Given the description of an element on the screen output the (x, y) to click on. 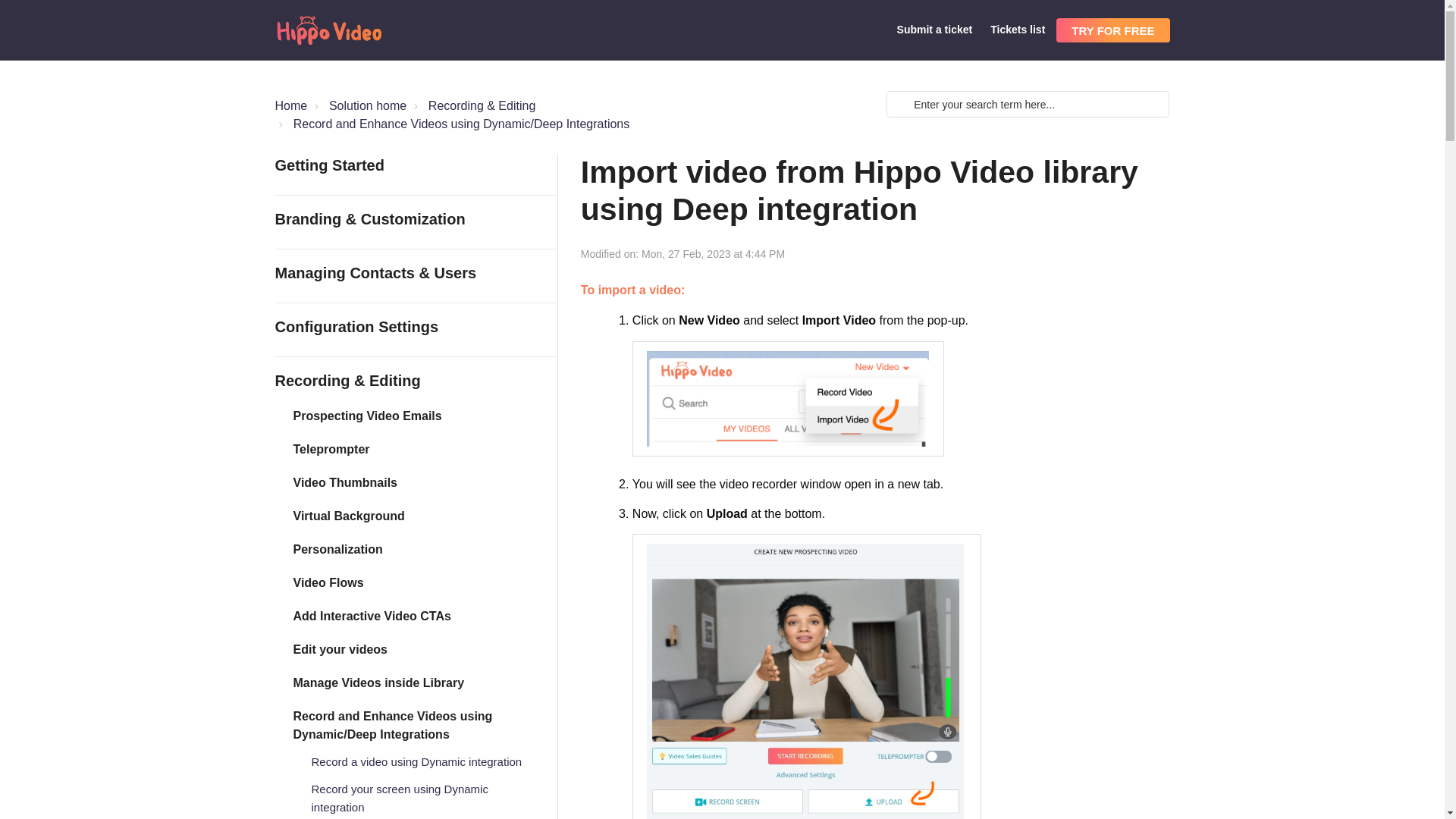
TRY FOR FREE (1113, 30)
Submit a ticket (934, 29)
Tickets list (1017, 29)
Solution home (367, 105)
Solution home (359, 106)
Home (291, 105)
